Given the description of an element on the screen output the (x, y) to click on. 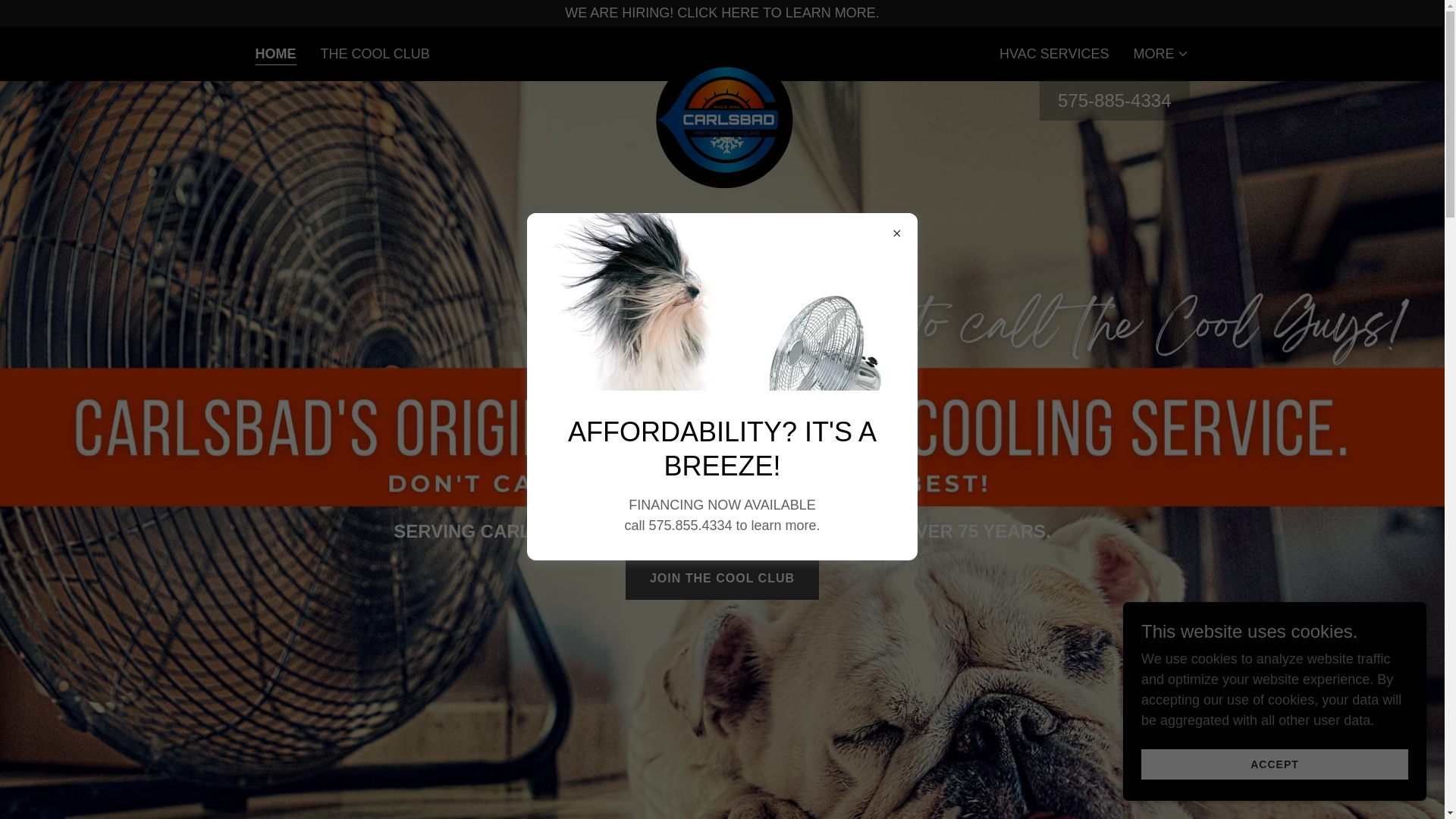
HVAC SERVICES (1053, 53)
HOME (274, 55)
THE COOL CLUB (374, 53)
MORE (1160, 54)
JOIN THE COOL CLUB (722, 578)
575-885-4334 (1114, 100)
